Given the description of an element on the screen output the (x, y) to click on. 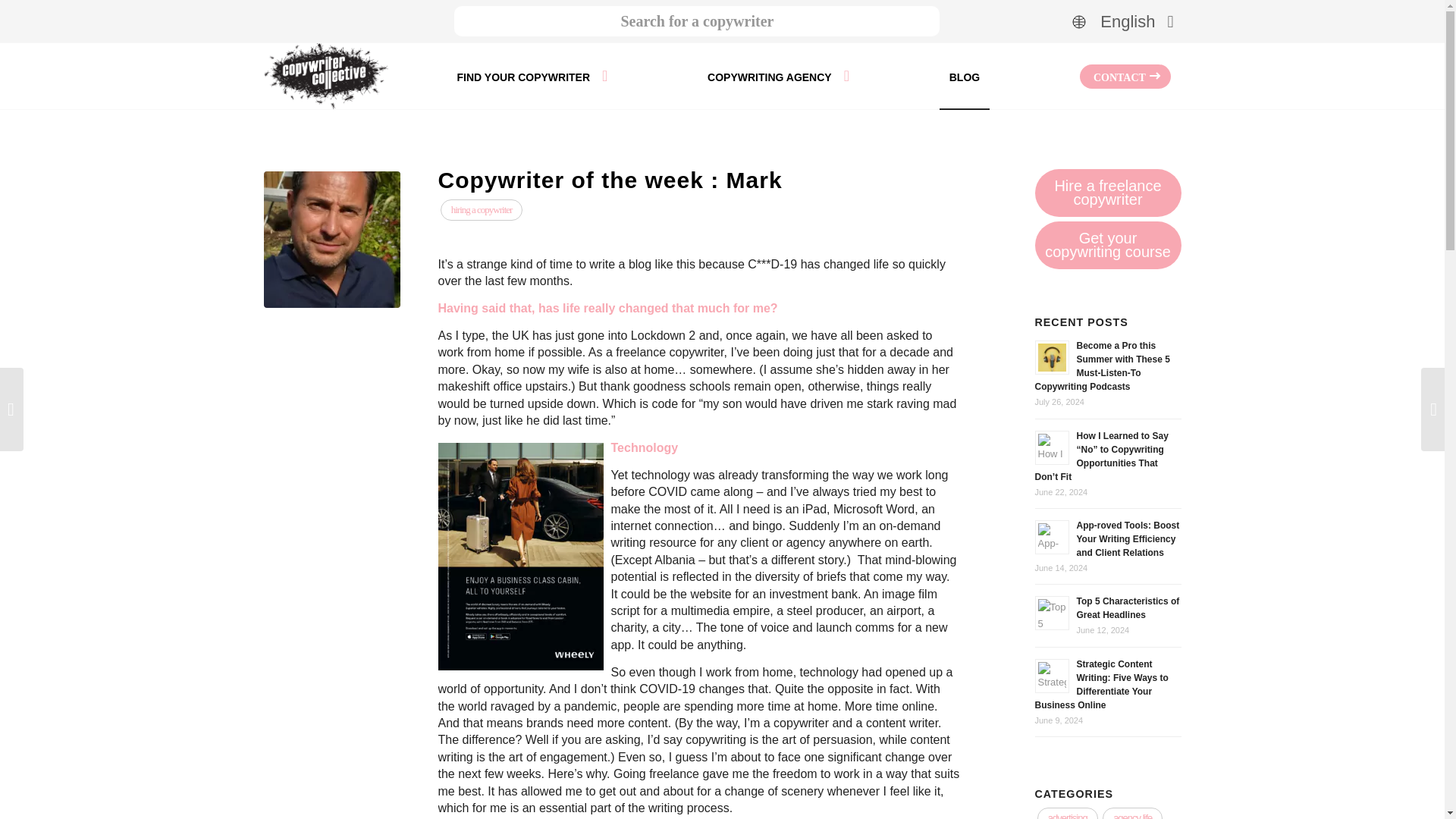
Get your copywriting course (1106, 245)
Recent Posts (1079, 322)
COPYWRITING AGENCY (778, 75)
Top 5 Characteristics of Great Headlines (1128, 607)
FIND YOUR COPYWRITER (531, 75)
CONTACT (1125, 75)
mark-herring-english-copywriting-copywriter-collective (331, 239)
hiring a copywriter (481, 209)
English (1121, 21)
English (1121, 21)
Hire a freelance copywriter (1106, 192)
advertising (1066, 813)
